Given the description of an element on the screen output the (x, y) to click on. 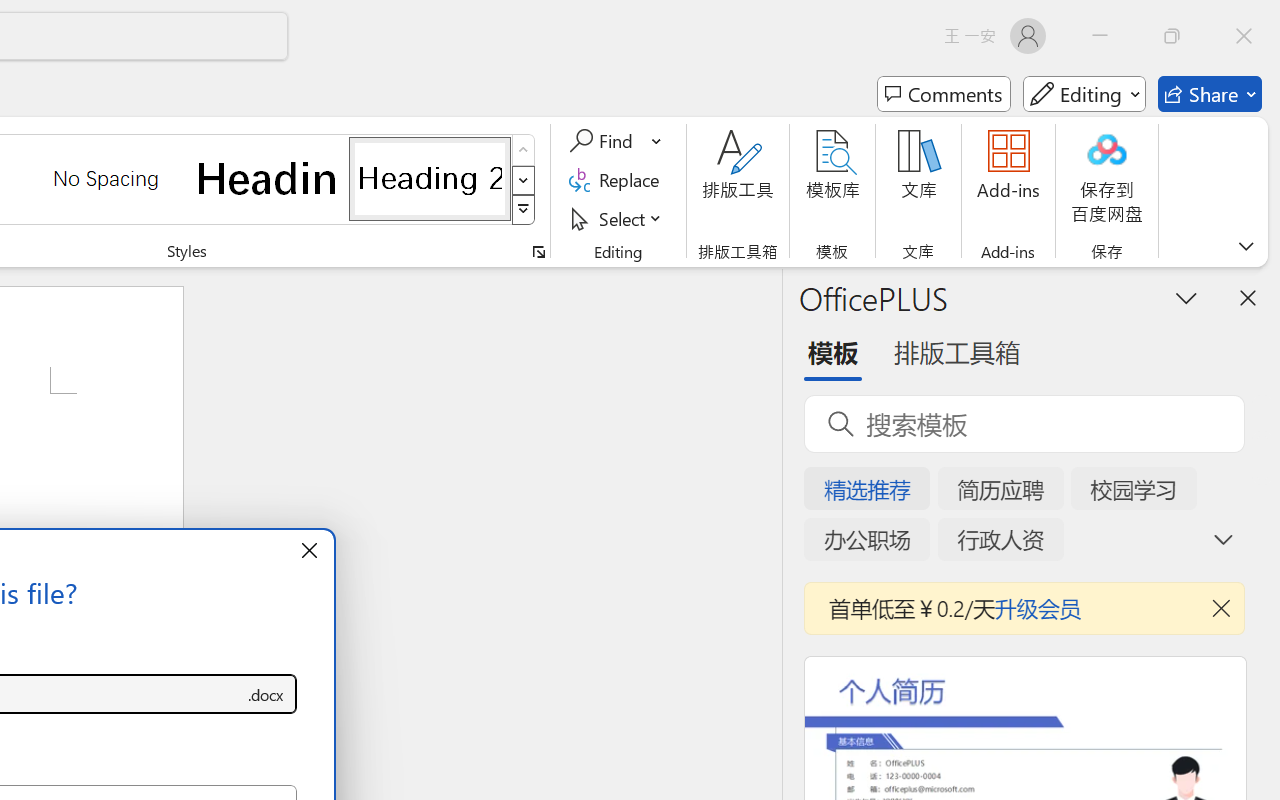
Minimize (1099, 36)
Comments (943, 94)
Close (1244, 36)
Select (618, 218)
Share (1210, 94)
Replace... (617, 179)
